Given the description of an element on the screen output the (x, y) to click on. 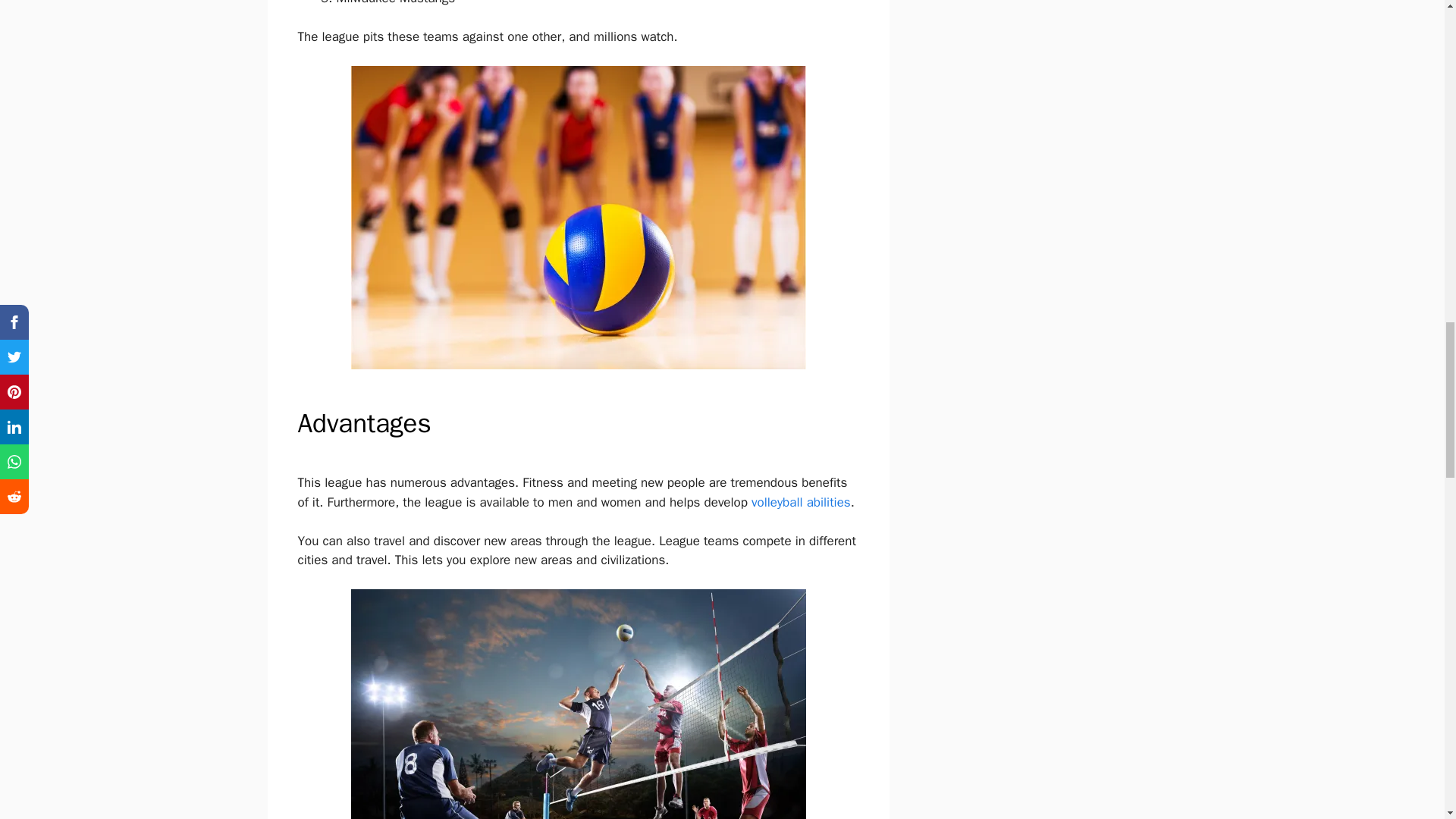
volleyball abilities (800, 502)
